Given the description of an element on the screen output the (x, y) to click on. 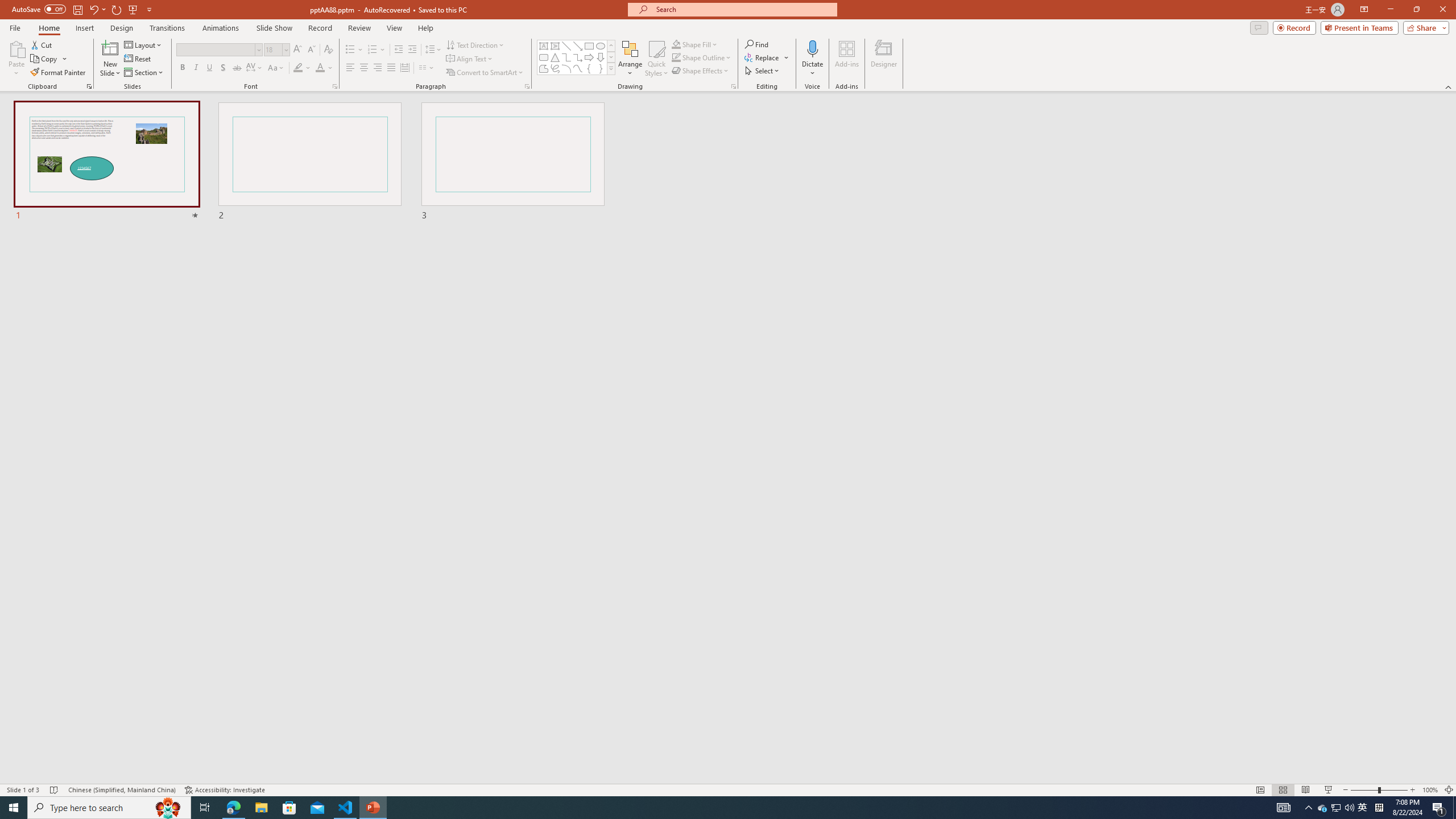
Select (762, 69)
Align Left (349, 67)
Class: MsoCommandBar (728, 789)
Decrease Indent (398, 49)
Text Highlight Color Yellow (297, 67)
Convert to SmartArt (485, 72)
Italic (195, 67)
Copy (45, 58)
Line Arrow (577, 45)
Left Brace (589, 68)
